Given the description of an element on the screen output the (x, y) to click on. 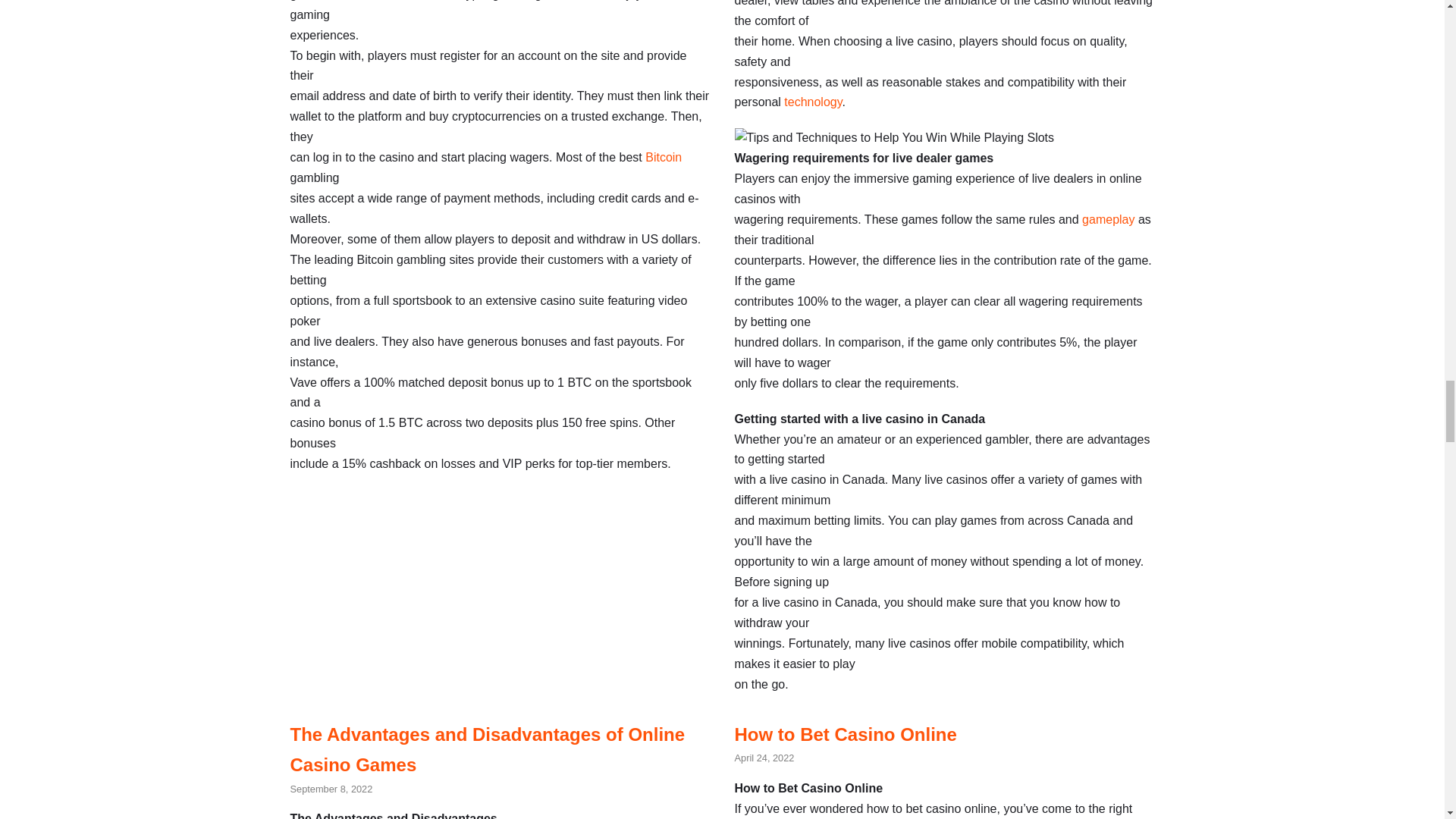
The Advantages and Disadvantages of Online Casino Games (486, 748)
gameplay (1107, 219)
6:15 am (763, 757)
technology (812, 101)
Bitcoin (663, 156)
12:40 am (330, 788)
